Given the description of an element on the screen output the (x, y) to click on. 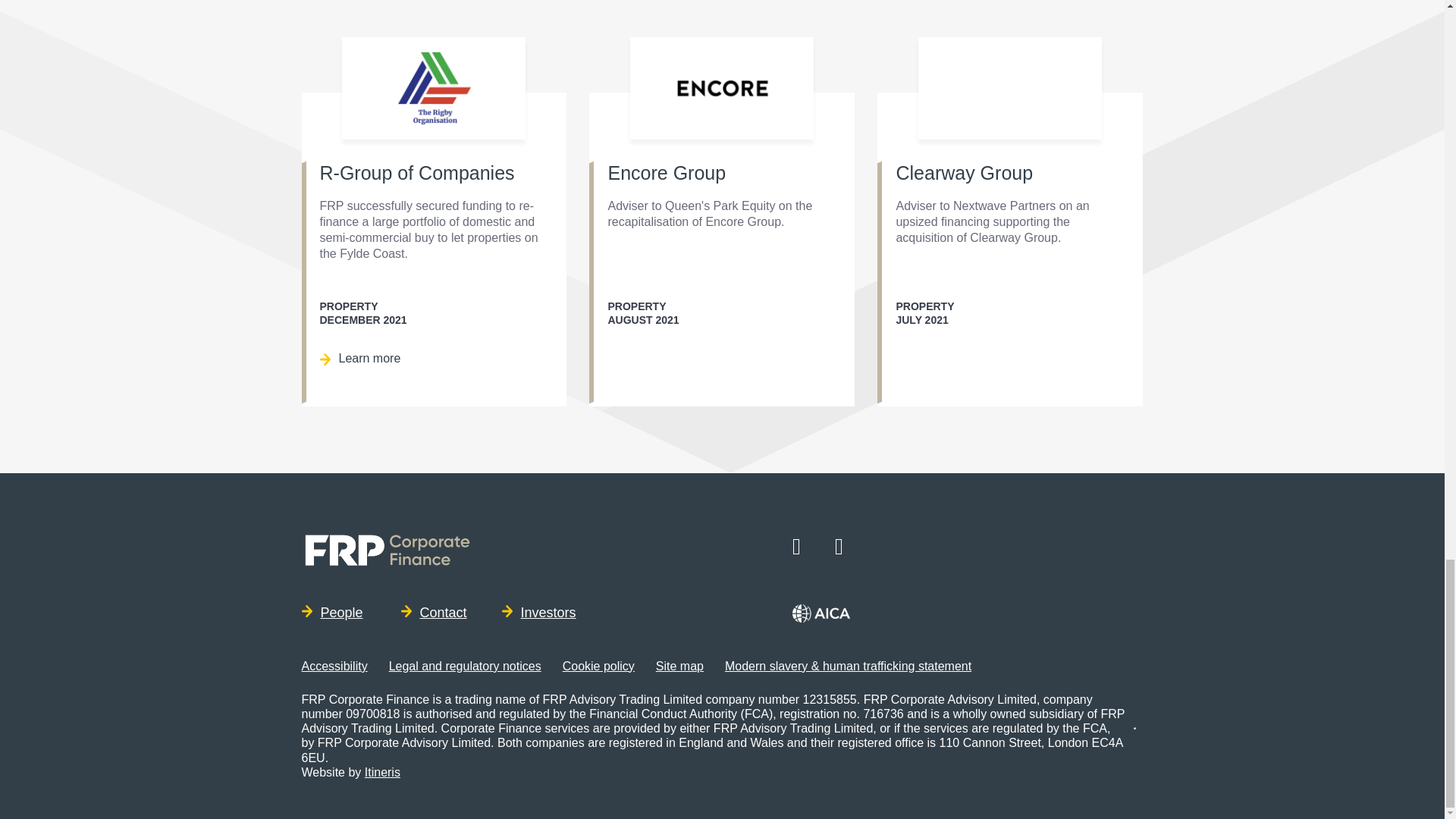
Contact (432, 613)
People (333, 613)
FRP Advisory (395, 550)
